Given the description of an element on the screen output the (x, y) to click on. 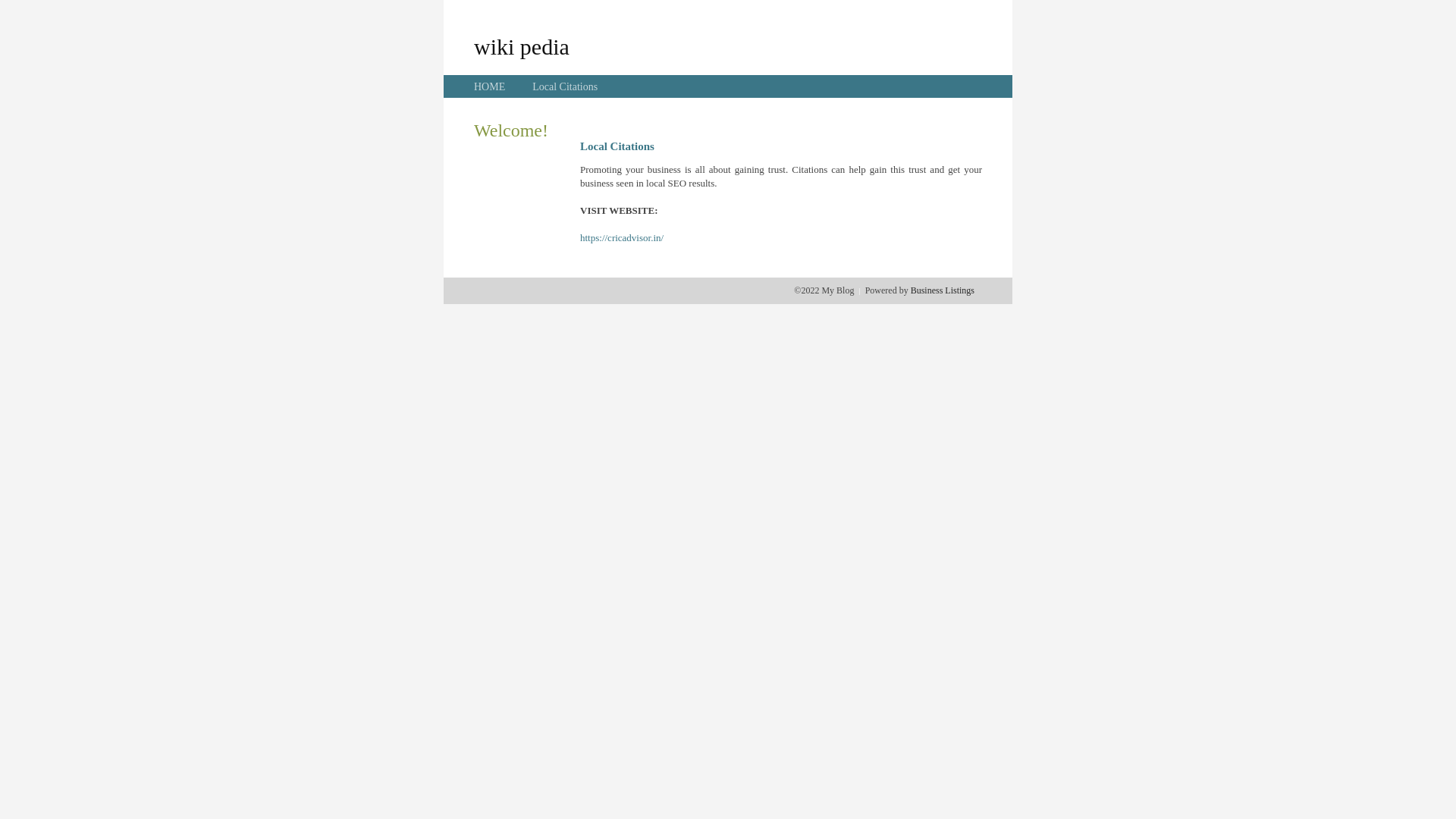
HOME Element type: text (489, 86)
https://cricadvisor.in/ Element type: text (621, 237)
Local Citations Element type: text (564, 86)
wiki pedia Element type: text (521, 46)
Business Listings Element type: text (942, 290)
